Given the description of an element on the screen output the (x, y) to click on. 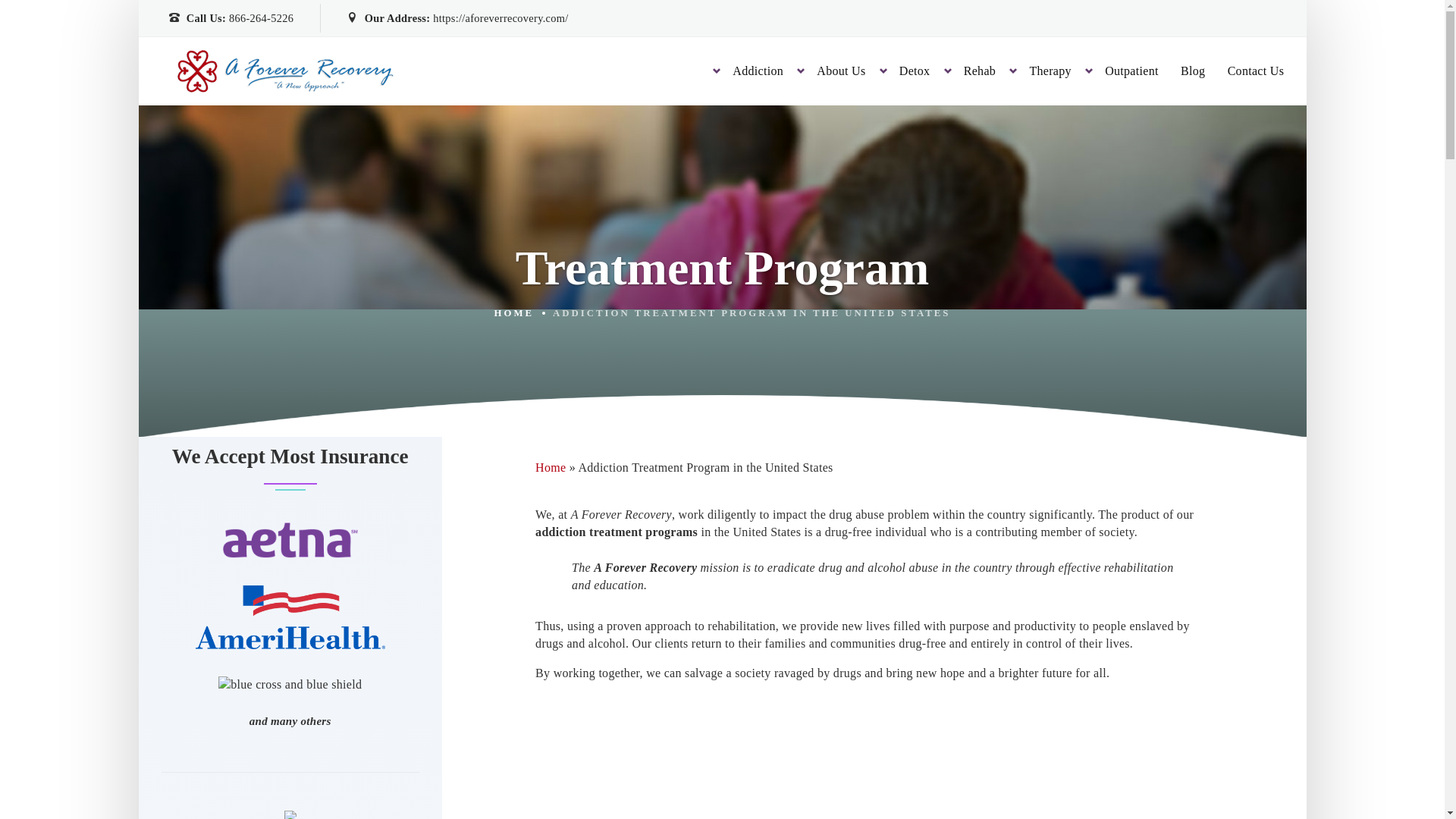
Contact Us (1255, 71)
Addiction (757, 56)
Outpatient (1131, 70)
About Us (840, 60)
Therapy (1049, 69)
